Given the description of an element on the screen output the (x, y) to click on. 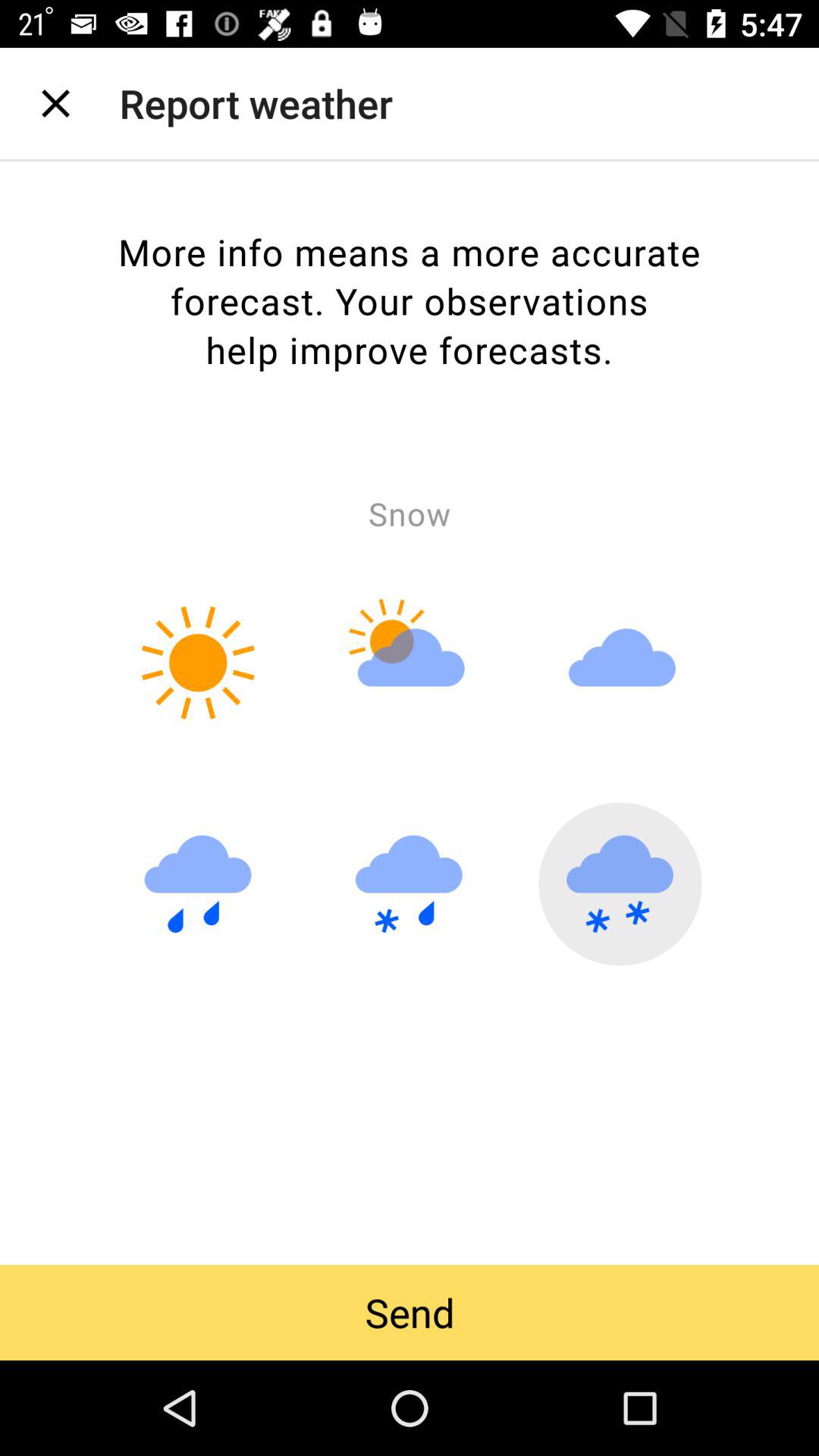
launch the item to the left of the report weather (55, 103)
